Given the description of an element on the screen output the (x, y) to click on. 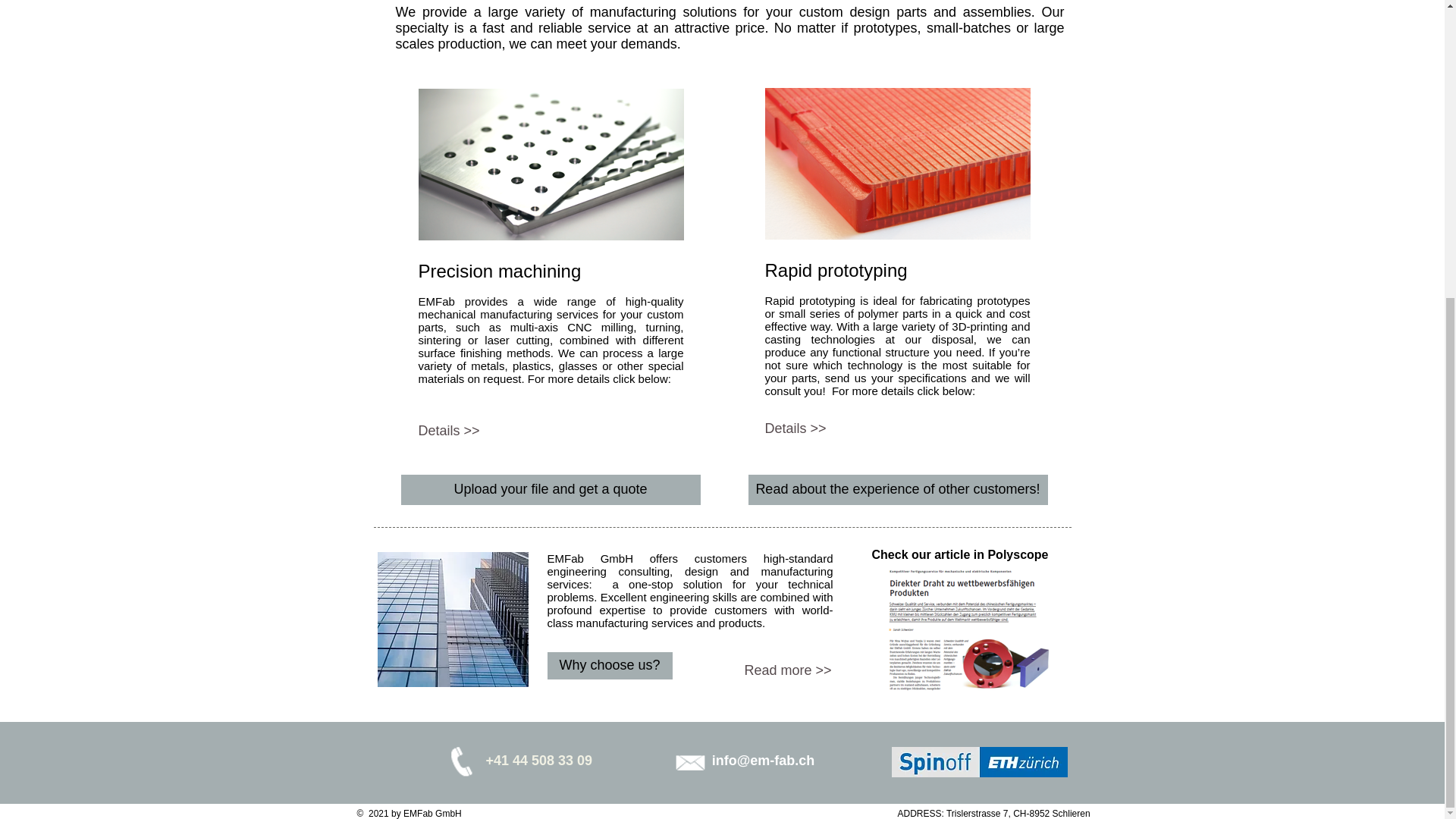
Upload your file and get a quote (550, 490)
Read about the experience of other customers! (897, 490)
RP3.png (896, 163)
mech.png (551, 164)
Why choose us? (609, 665)
